Given the description of an element on the screen output the (x, y) to click on. 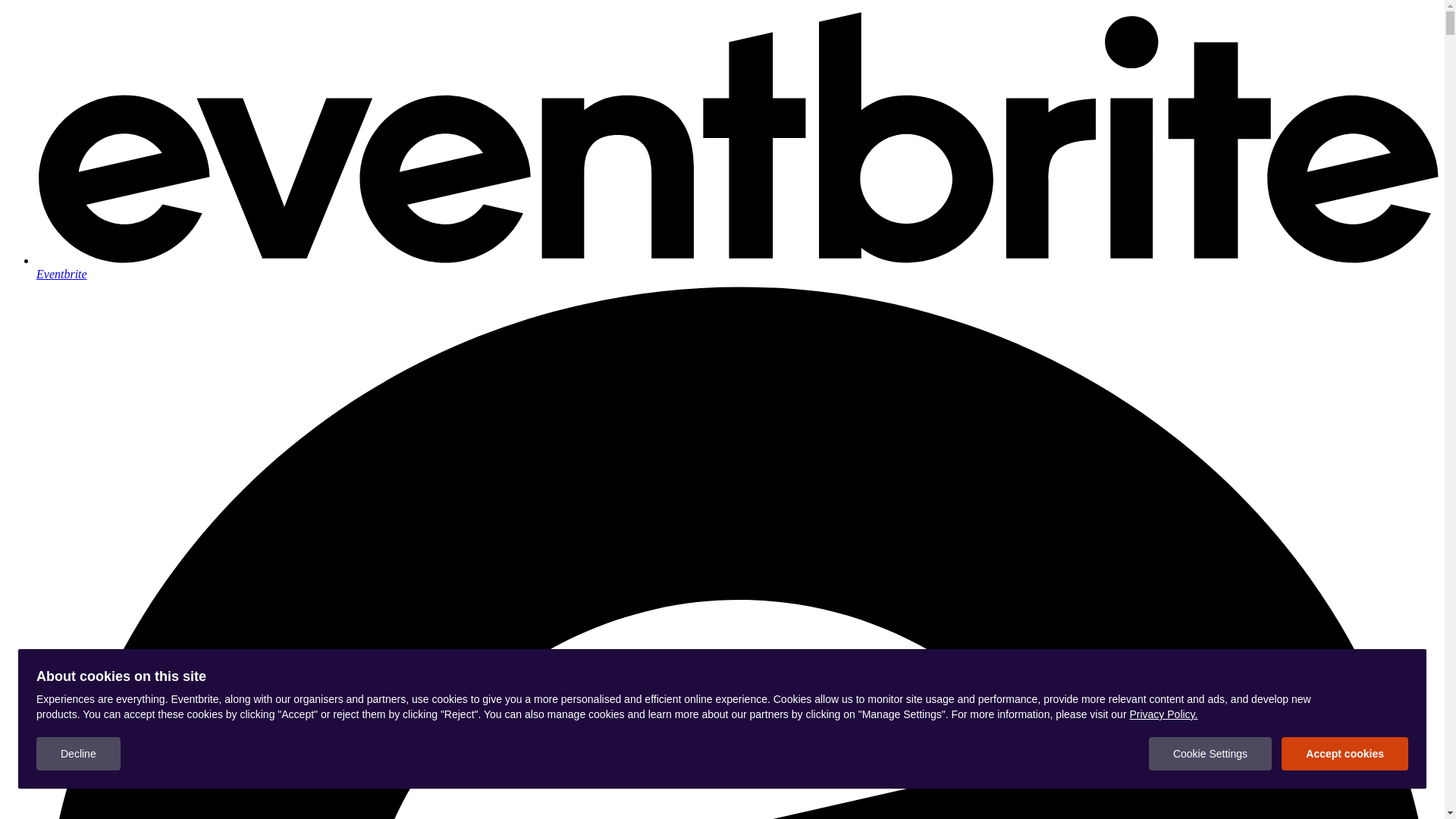
Privacy Policy. Element type: text (1163, 714)
Decline Element type: text (78, 753)
Eventbrite Element type: text (737, 267)
Accept cookies Element type: text (1344, 753)
Cookie Settings Element type: text (1209, 753)
